Given the description of an element on the screen output the (x, y) to click on. 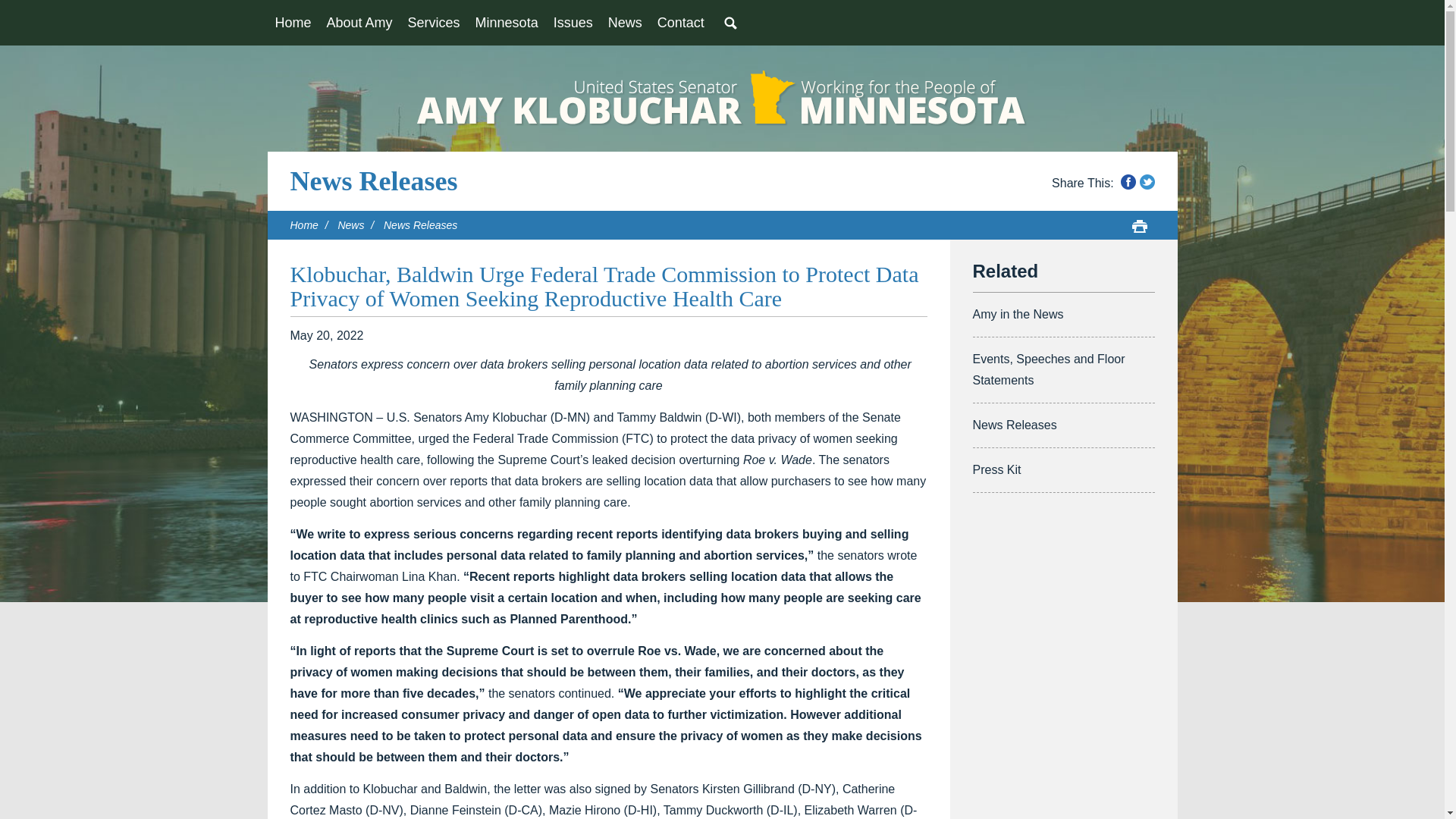
About Amy (359, 22)
Services (433, 22)
Home (292, 22)
Minnesota (506, 22)
Issues (572, 22)
